Given the description of an element on the screen output the (x, y) to click on. 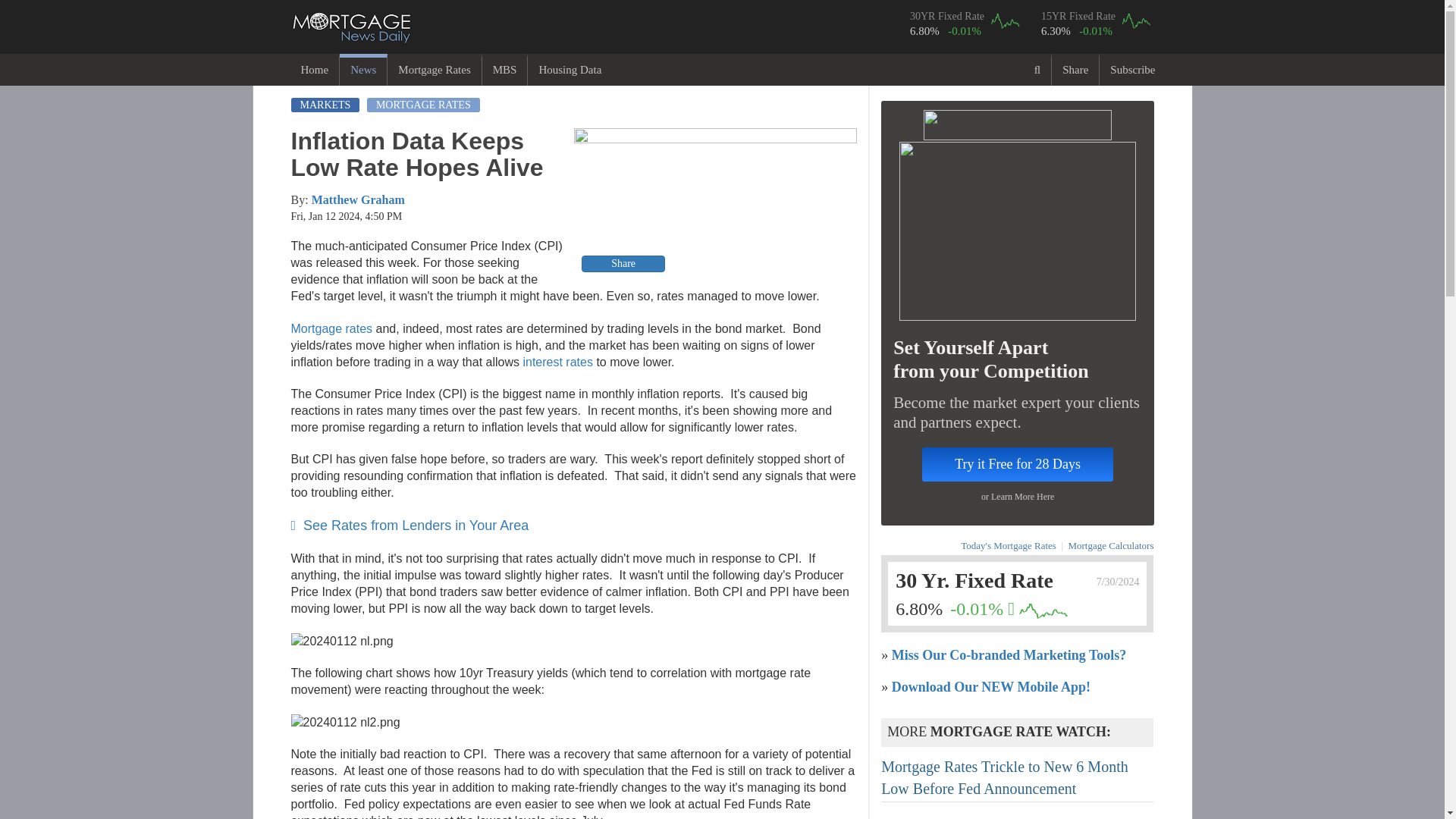
News (363, 69)
Preview (715, 201)
Mortgage Rates (434, 69)
Home (314, 69)
